Given the description of an element on the screen output the (x, y) to click on. 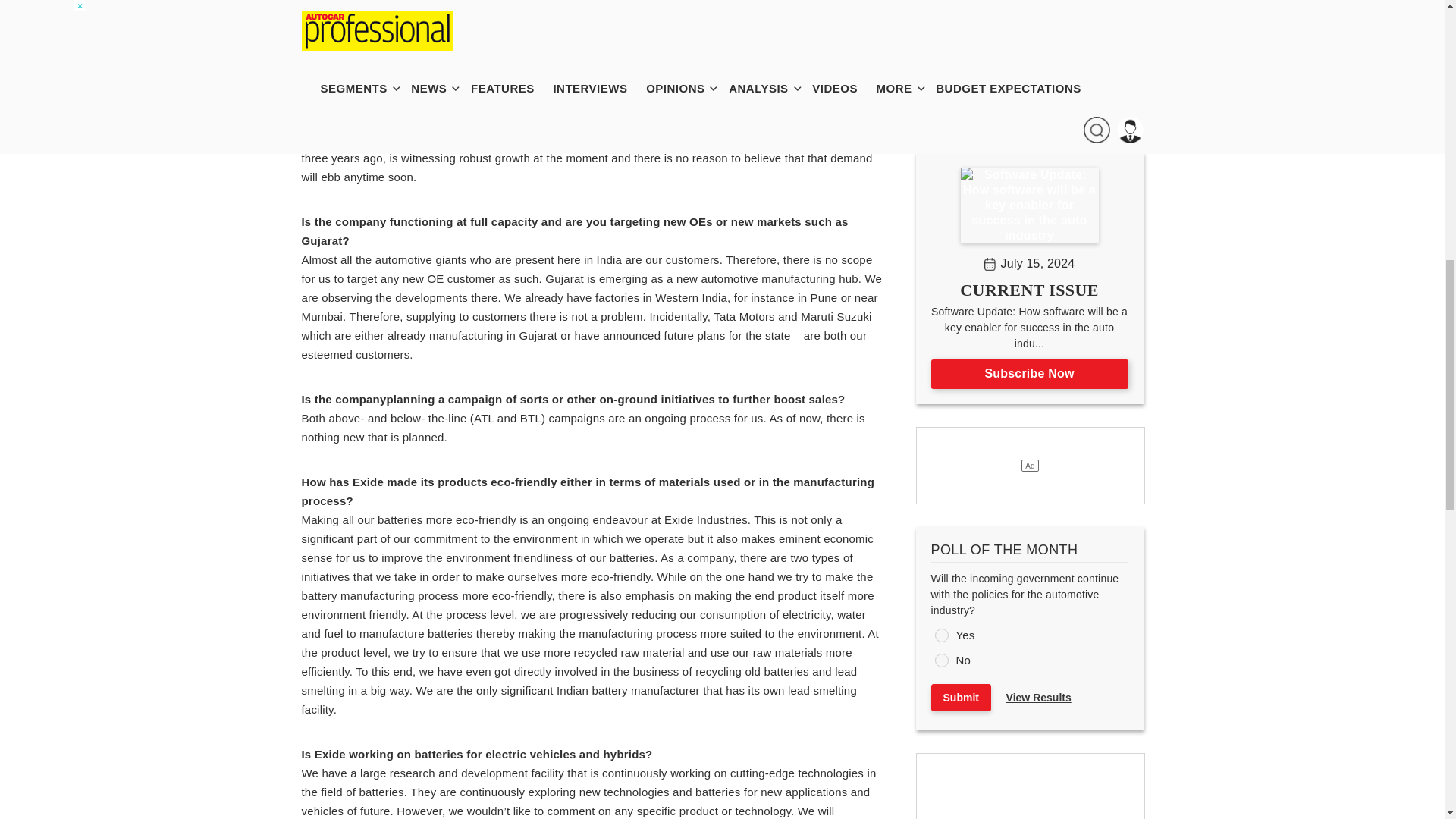
294 (940, 660)
293 (940, 635)
